Given the description of an element on the screen output the (x, y) to click on. 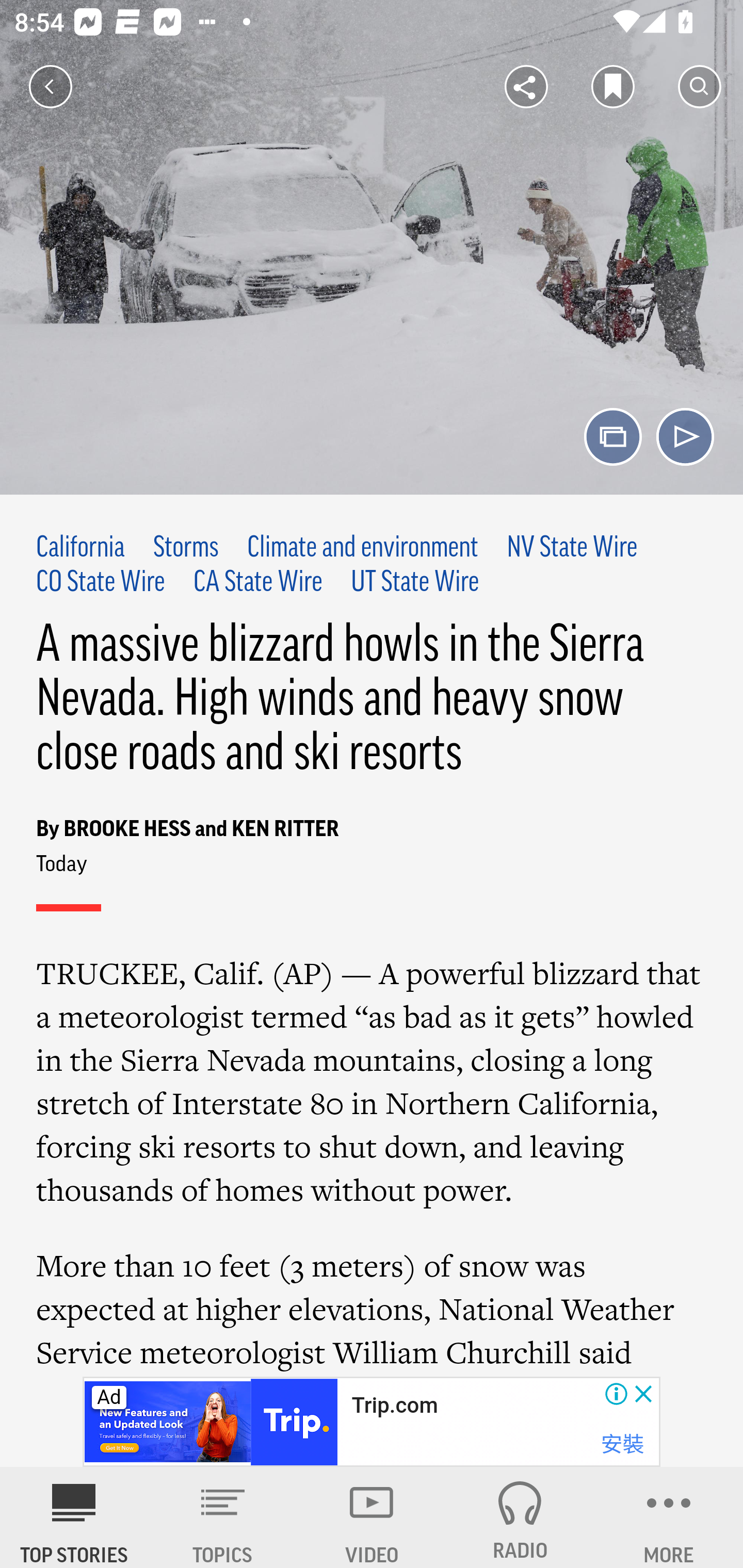
California (81, 548)
Storms (185, 548)
Climate and environment (361, 548)
NV State Wire (571, 548)
CO State Wire (101, 582)
CA State Wire (258, 582)
UT State Wire (415, 582)
Trip.com (393, 1405)
安裝 (621, 1444)
AP News TOP STORIES (74, 1517)
TOPICS (222, 1517)
VIDEO (371, 1517)
RADIO (519, 1517)
MORE (668, 1517)
